Given the description of an element on the screen output the (x, y) to click on. 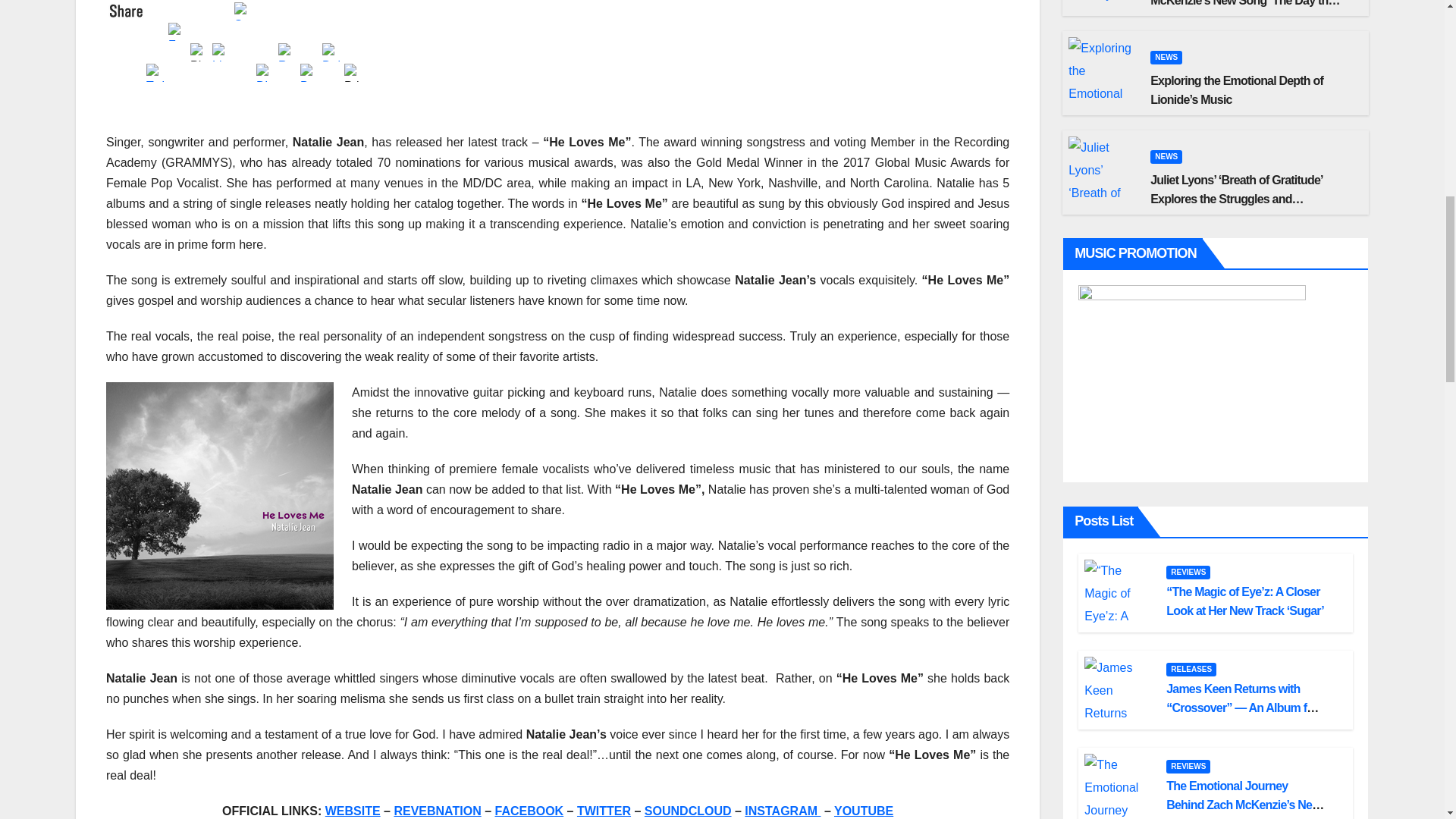
Twitter (157, 70)
Facebook (179, 29)
Pinterest (201, 50)
